Given the description of an element on the screen output the (x, y) to click on. 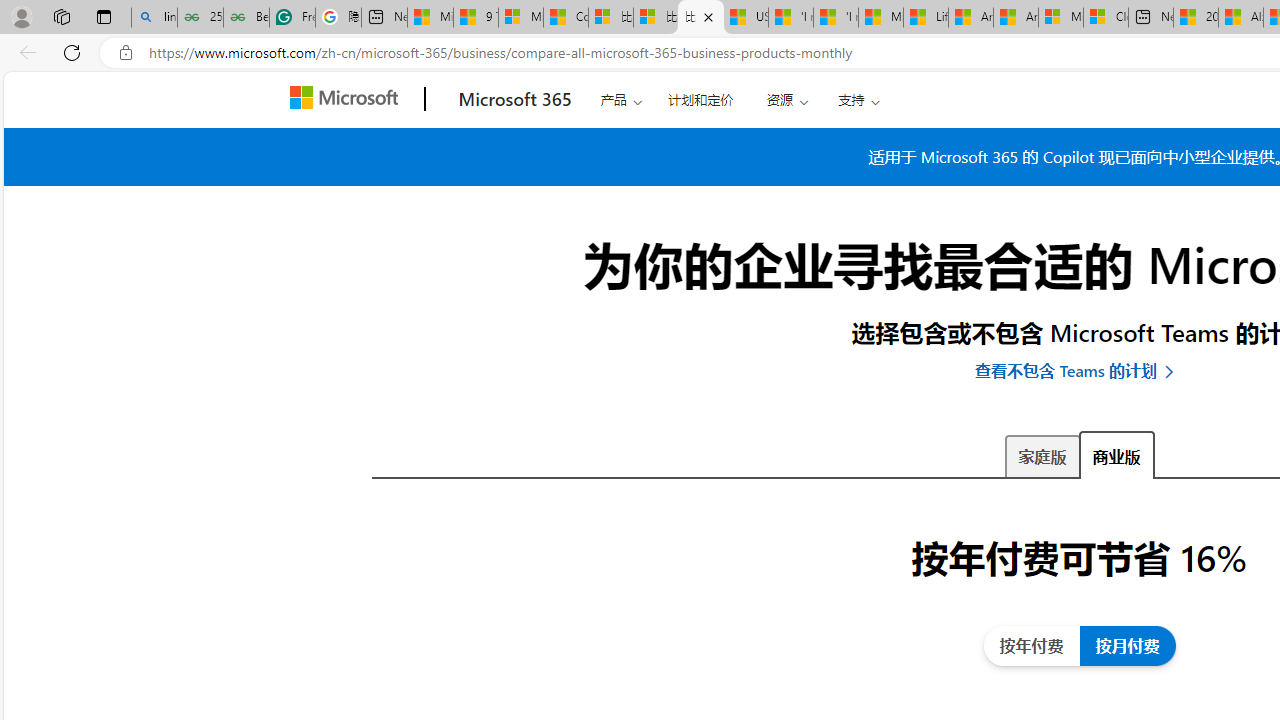
20 Ways to Boost Your Protein Intake at Every Meal (1195, 17)
linux basic - Search (153, 17)
USA TODAY - MSN (745, 17)
Best SSL Certificates Provider in India - GeeksforGeeks (246, 17)
Lifestyle - MSN (925, 17)
